Given the description of an element on the screen output the (x, y) to click on. 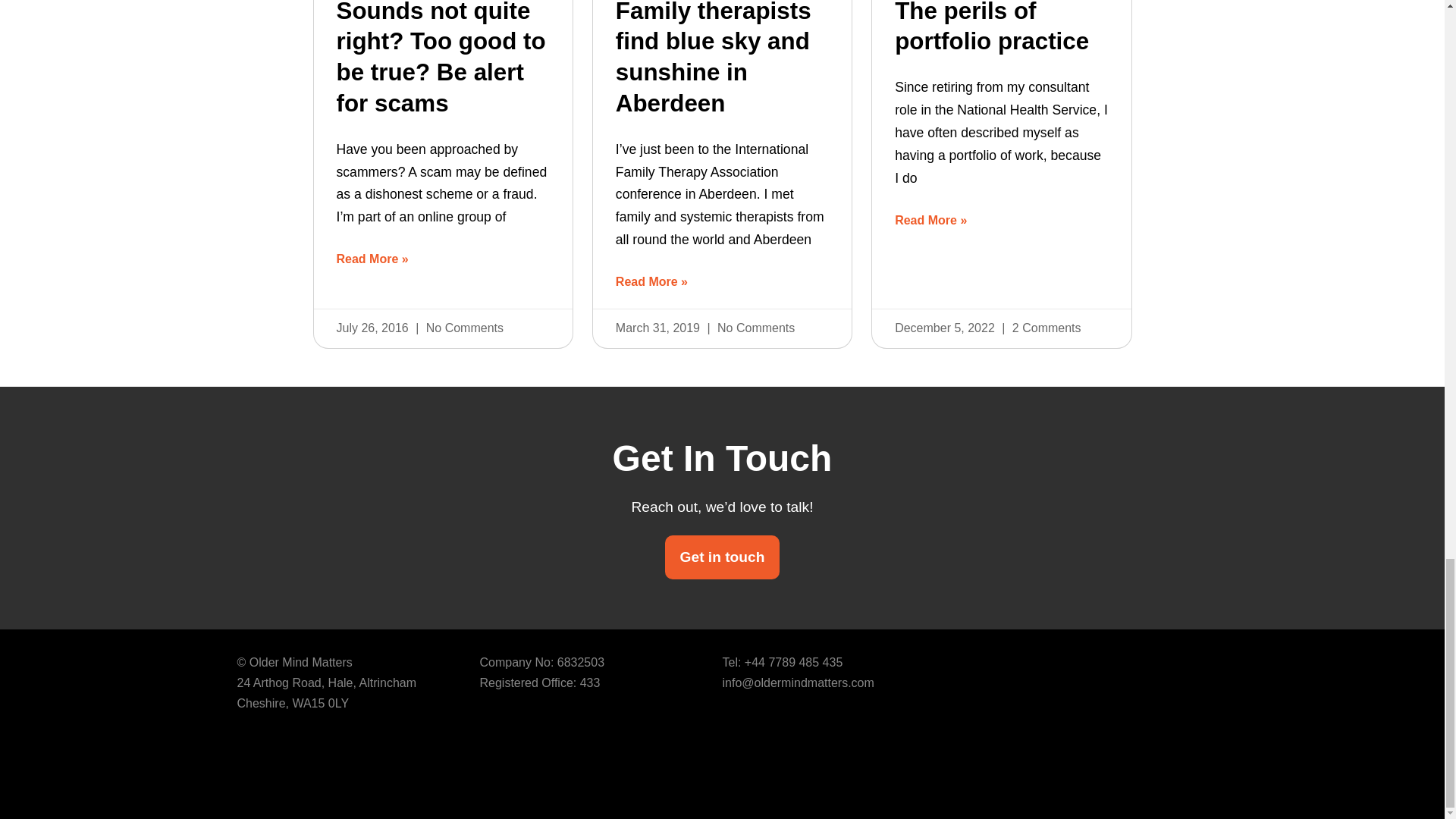
Get in touch (721, 557)
The perils of portfolio practice (992, 27)
Family therapists find blue sky and sunshine in Aberdeen (712, 58)
